Given the description of an element on the screen output the (x, y) to click on. 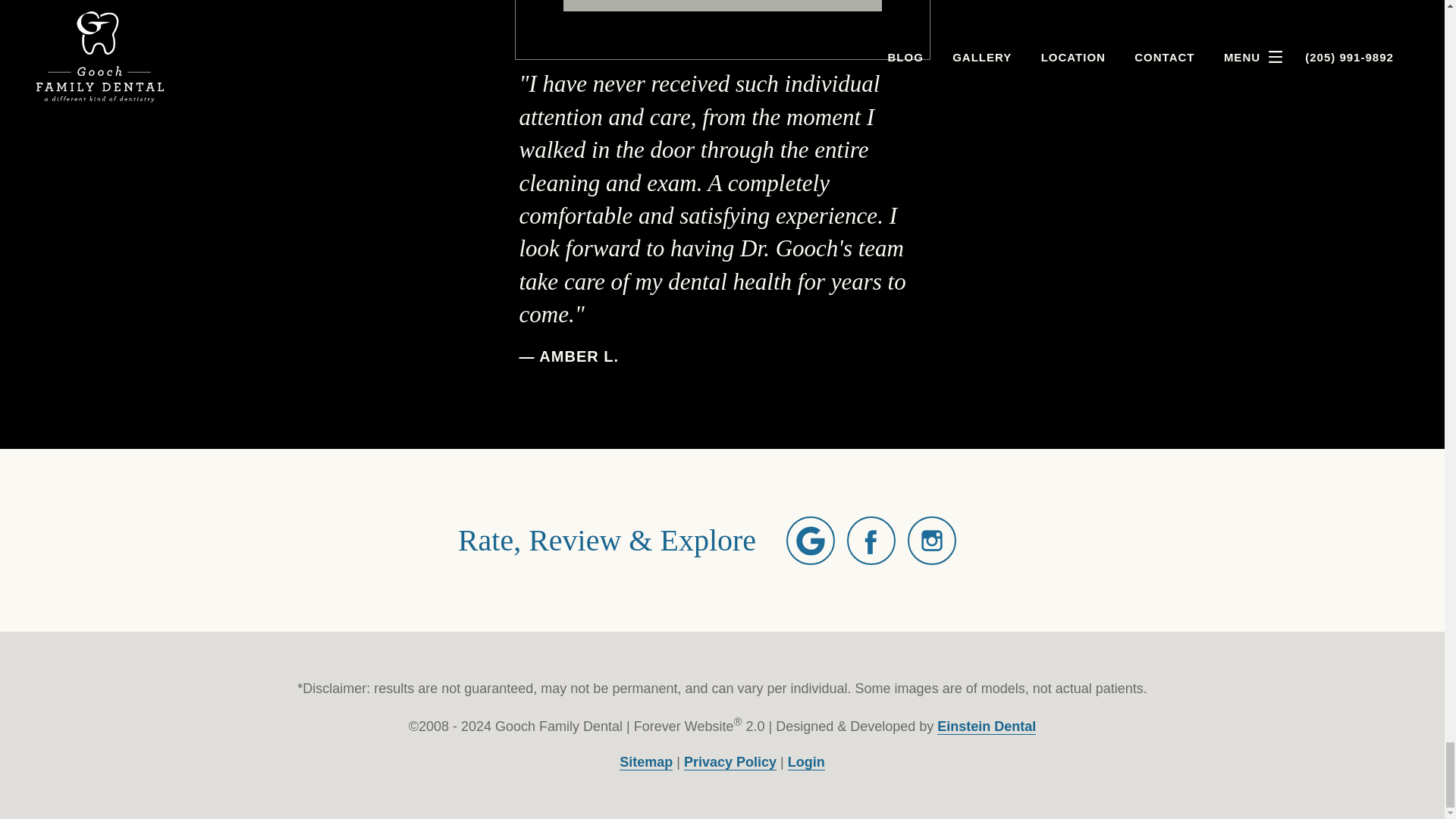
Instagram (931, 540)
Facebook (871, 540)
Google (810, 540)
